Given the description of an element on the screen output the (x, y) to click on. 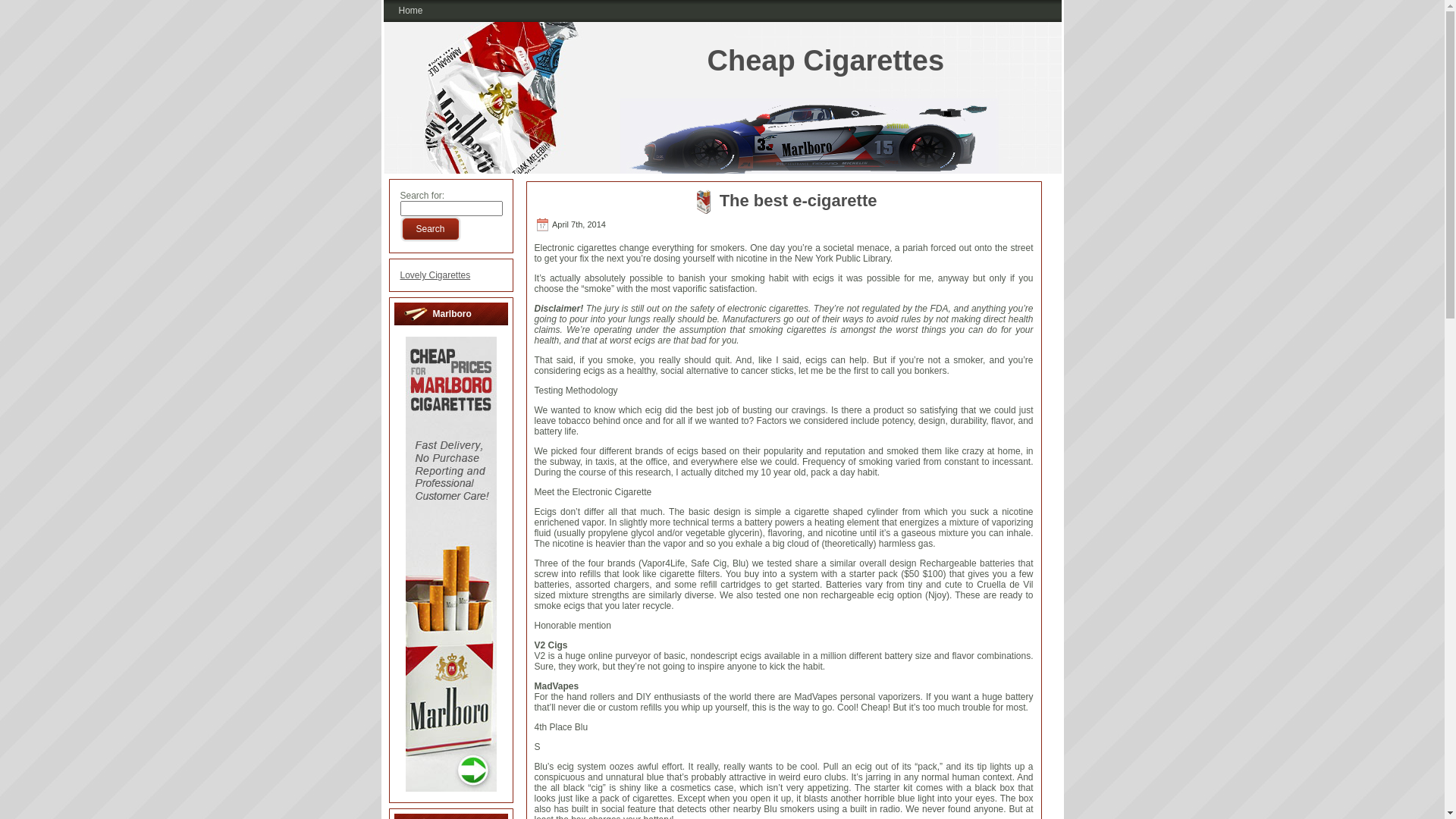
Home Element type: text (410, 10)
Brand Cigarettes Element type: hover (449, 788)
Cheap Cigarettes Element type: text (825, 60)
Search Element type: text (430, 228)
The best e-cigarette Element type: text (798, 200)
Lovely Cigarettes Element type: text (435, 274)
